Given the description of an element on the screen output the (x, y) to click on. 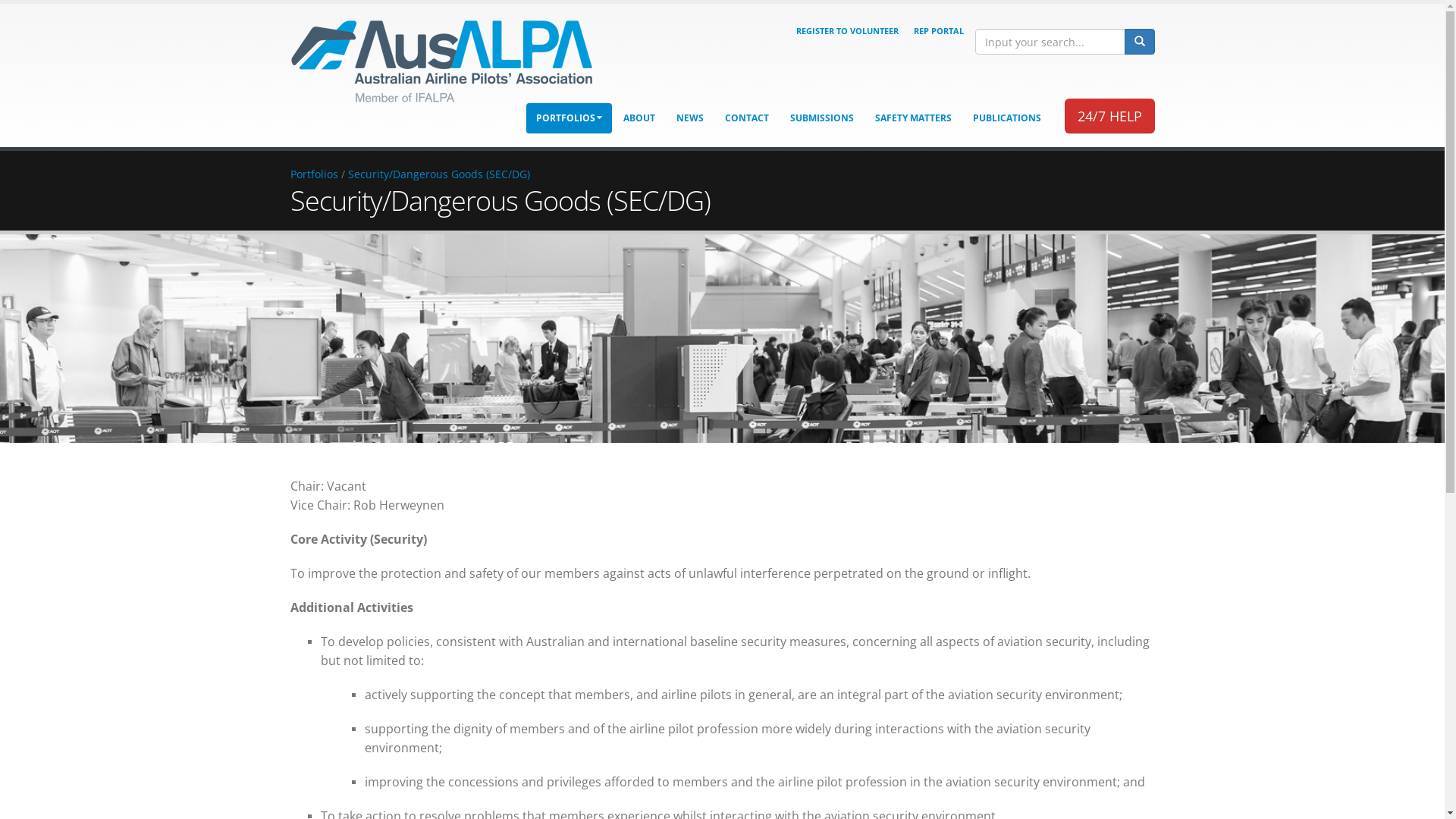
24/7 HELP Element type: text (1109, 115)
ABOUT Element type: text (638, 118)
REGISTER TO VOLUNTEER Element type: text (847, 29)
CONTACT Element type: text (746, 118)
SUBMISSIONS Element type: text (820, 118)
NEWS Element type: text (688, 118)
Portfolios Element type: text (313, 173)
SAFETY MATTERS Element type: text (912, 118)
Security/Dangerous Goods (SEC/DG) Element type: text (438, 173)
PORTFOLIOS Element type: text (568, 118)
PUBLICATIONS Element type: text (1007, 118)
Australian Airline Pilots' Association (AusALPA) Element type: hover (441, 59)
REP PORTAL Element type: text (938, 30)
